Given the description of an element on the screen output the (x, y) to click on. 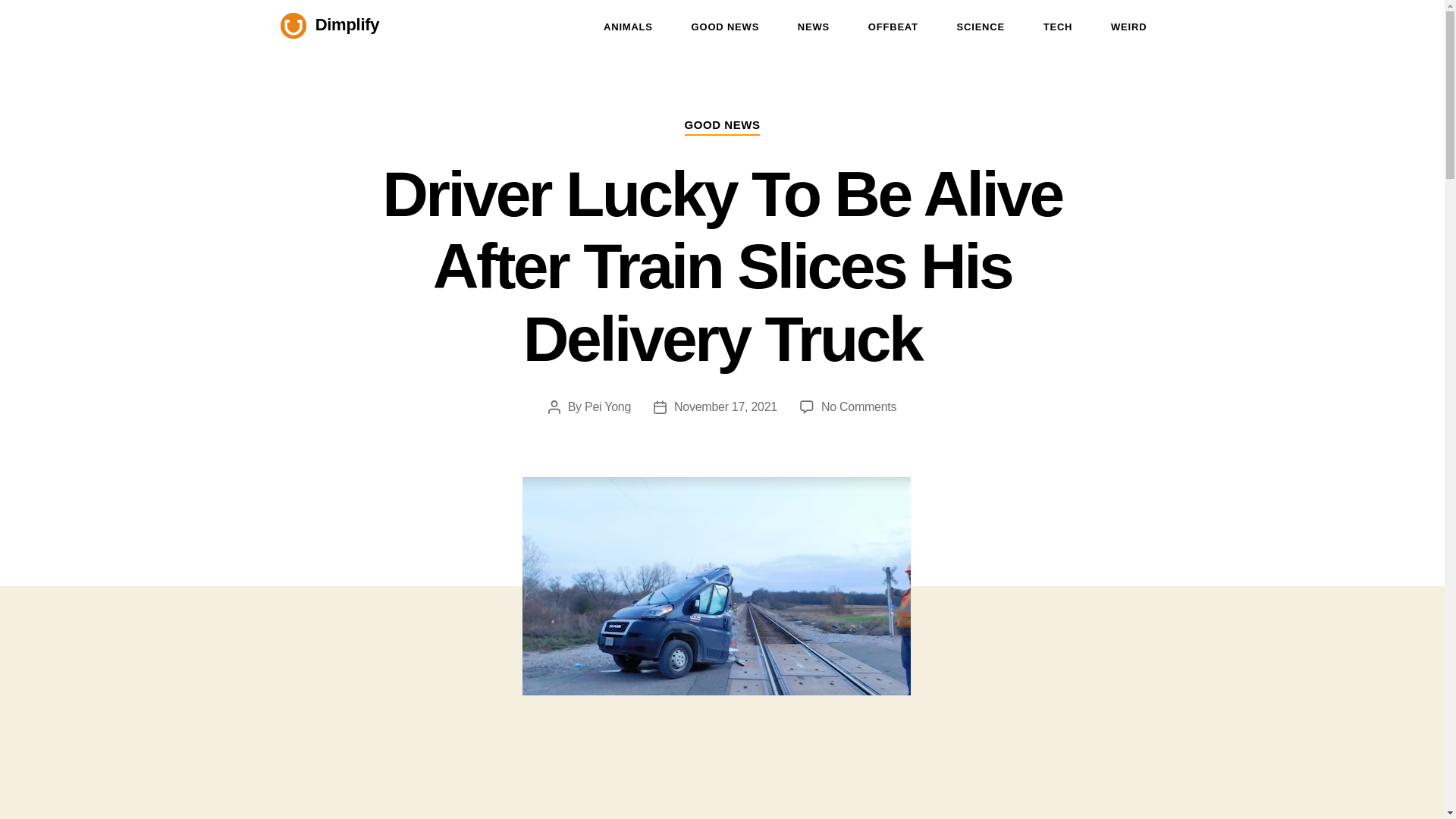
ANIMALS (628, 26)
GOOD NEWS (725, 26)
WEIRD (1128, 26)
TECH (1058, 26)
Pei Yong (607, 406)
November 17, 2021 (725, 406)
Advertisement (721, 796)
SCIENCE (980, 26)
NEWS (813, 26)
